Given the description of an element on the screen output the (x, y) to click on. 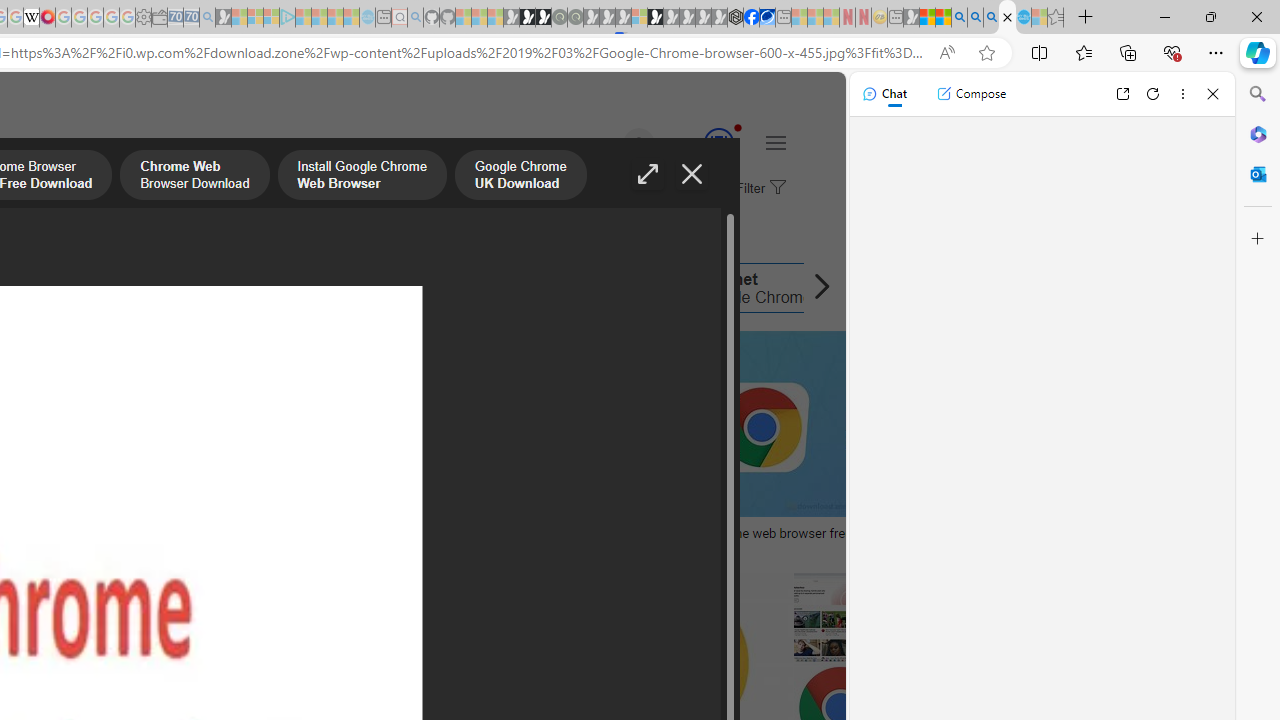
Google Chrome Fast Download (473, 287)
Google chrome web browser free download for Mac and Window (817, 541)
Image result for Google Chrome Internet Browser Download (838, 617)
Future Focus Report 2024 - Sleeping (575, 17)
Animation (737, 127)
